Given the description of an element on the screen output the (x, y) to click on. 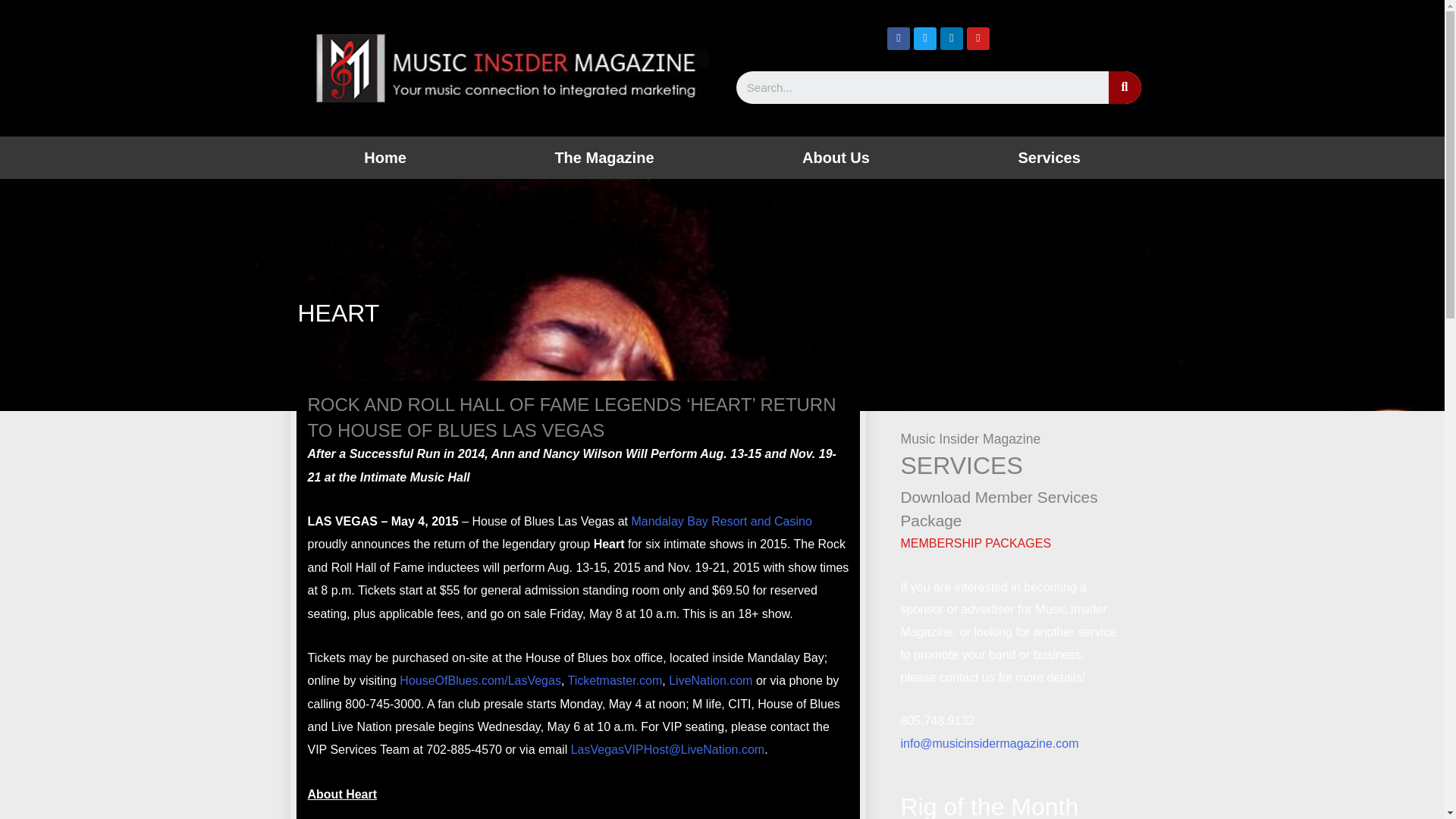
About Us (835, 157)
Mandalay Bay Resort and Casino (720, 521)
Ticketmaster.com (614, 680)
Search (921, 87)
MEMBERSHIP PACKAGES (975, 543)
The Magazine (604, 157)
Search (1124, 87)
Online Marketing Service (1048, 157)
Home (384, 157)
LiveNation.com (710, 680)
Services (1048, 157)
